Given the description of an element on the screen output the (x, y) to click on. 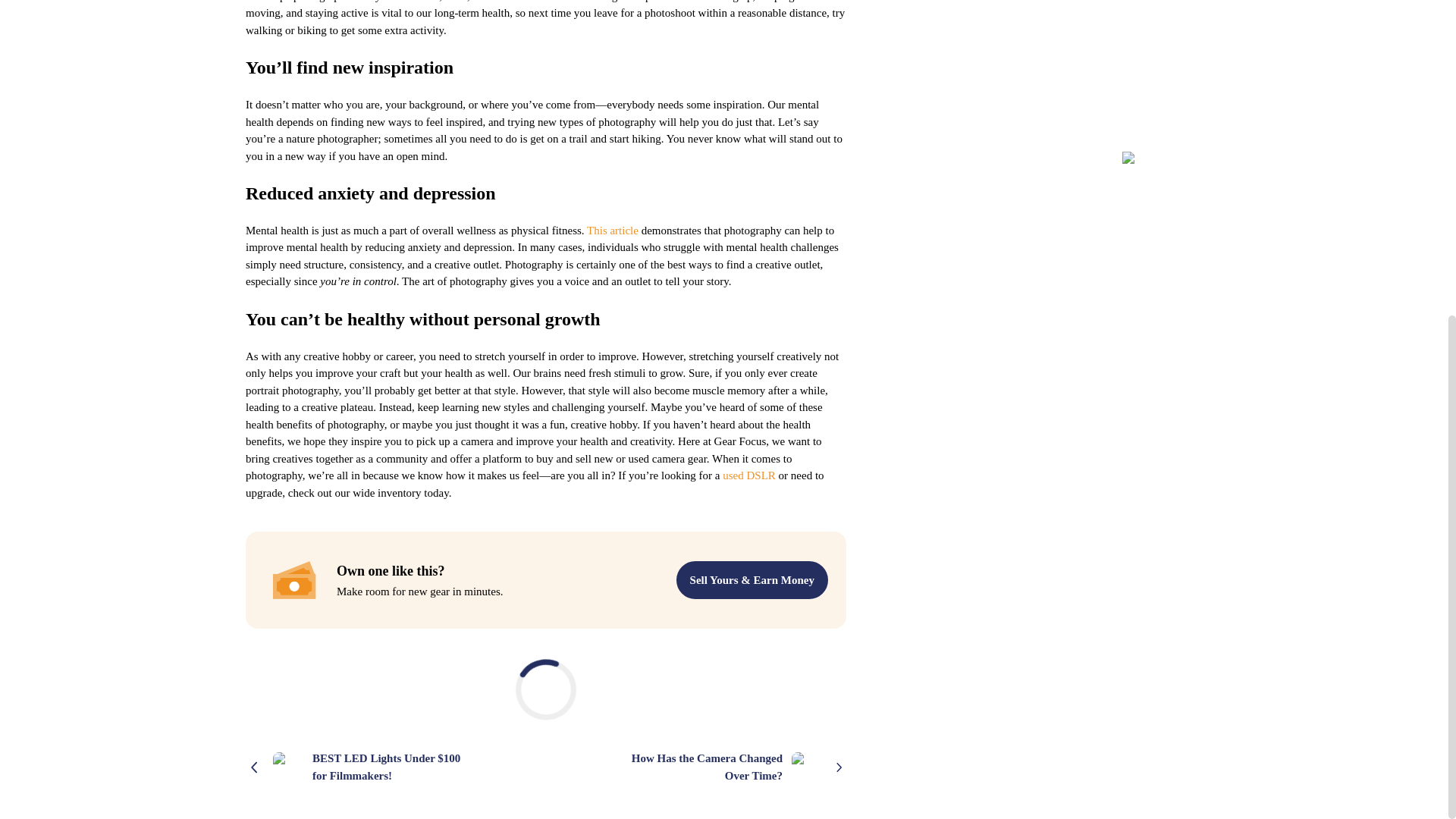
How Has the Camera Changed Over Time? (737, 766)
used DSLR (749, 475)
This article (612, 230)
